Given the description of an element on the screen output the (x, y) to click on. 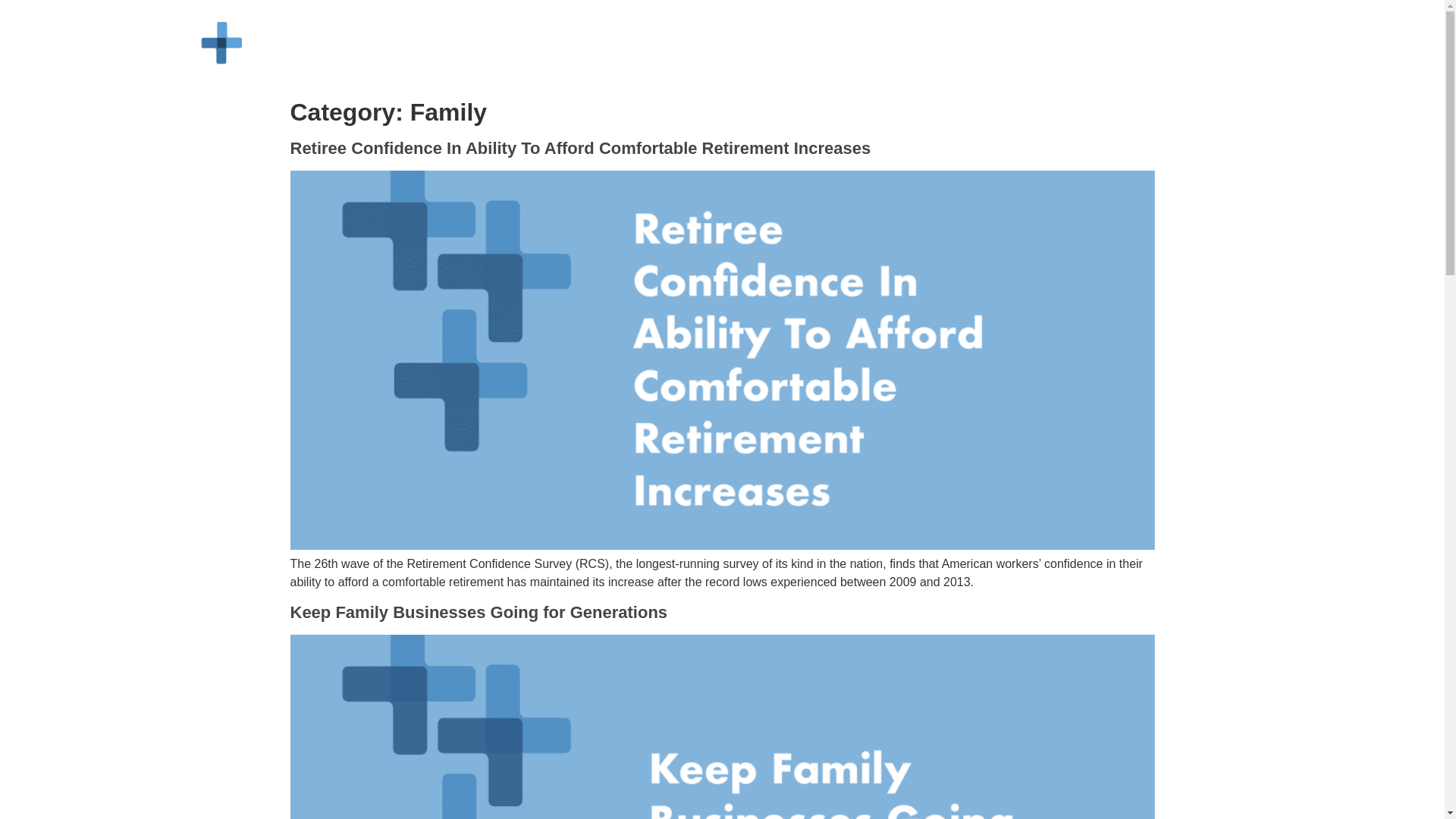
ABOUT (659, 58)
MAKE A PAYMENT (1242, 58)
SERVICES (729, 58)
RESOURCES (923, 58)
WHO WE SERVE (823, 58)
CONNECT (1007, 58)
HOME (605, 58)
CLIENT LOGIN (1113, 58)
